Given the description of an element on the screen output the (x, y) to click on. 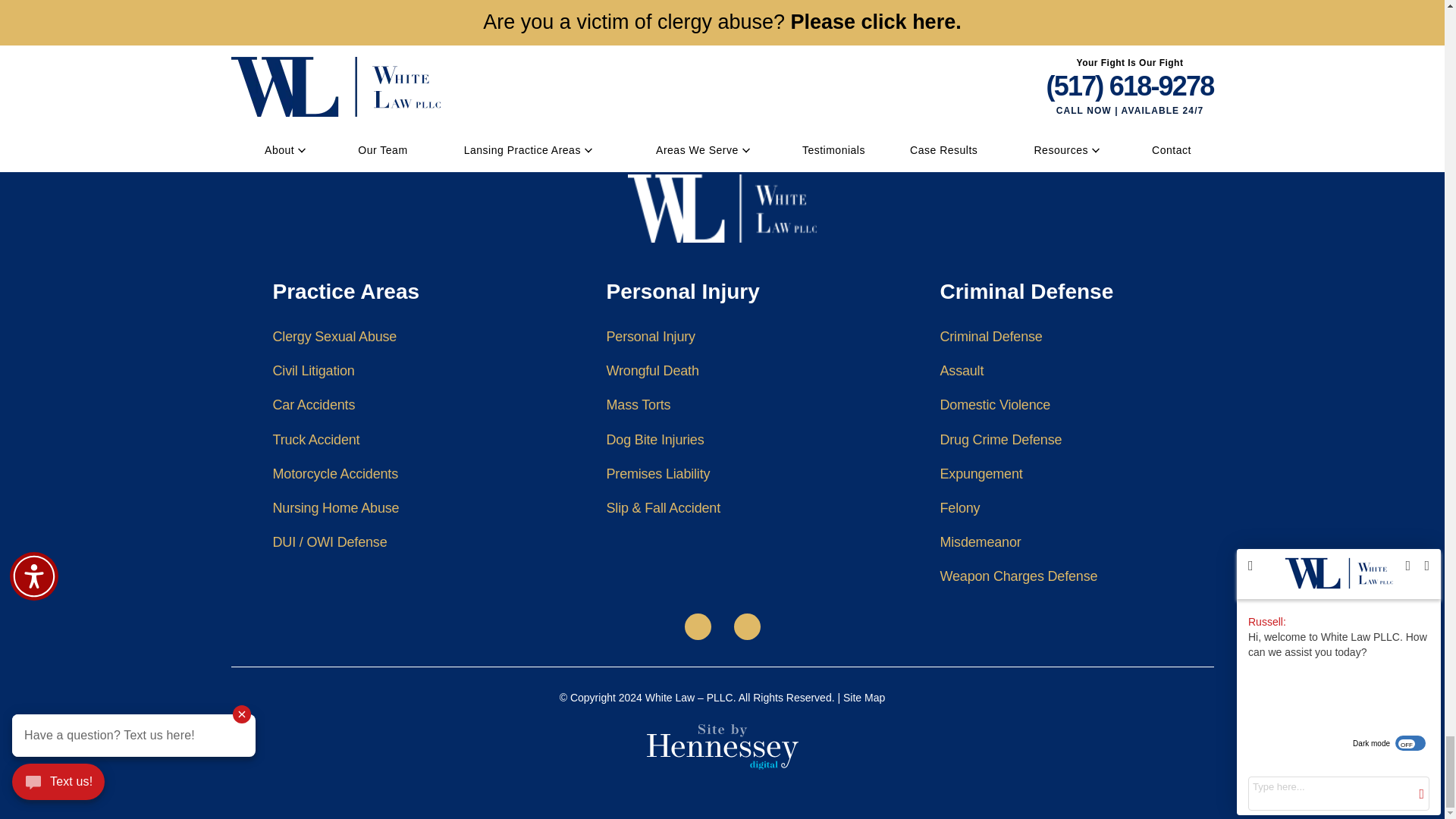
Send Request (1062, 13)
